Given the description of an element on the screen output the (x, y) to click on. 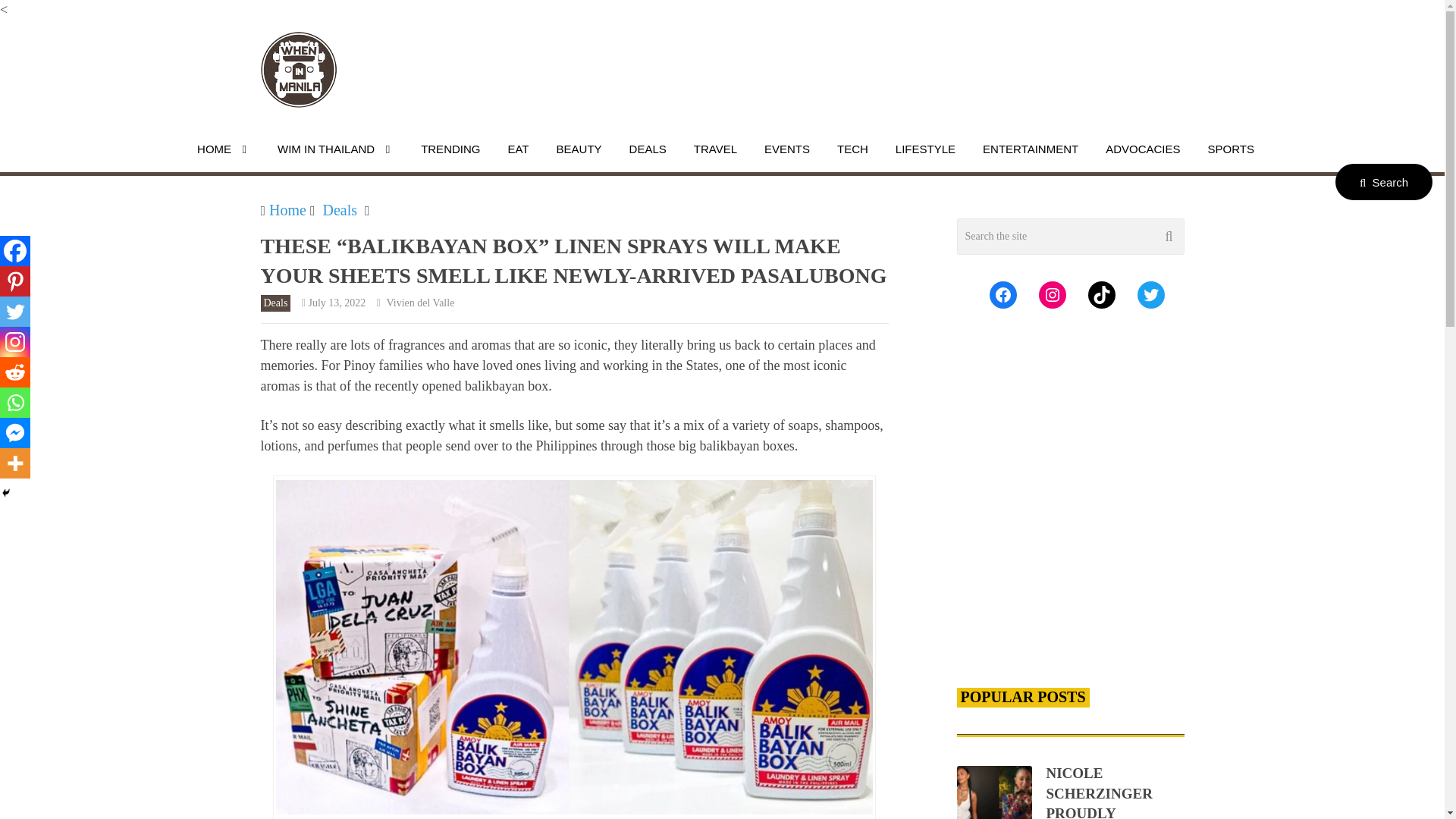
ADVOCACIES (1142, 148)
  Search (1383, 181)
TRAVEL (715, 148)
More (15, 462)
Instagram (15, 341)
SPORTS (1230, 148)
HOME (224, 148)
EAT (518, 148)
Twitter (15, 311)
